Given the description of an element on the screen output the (x, y) to click on. 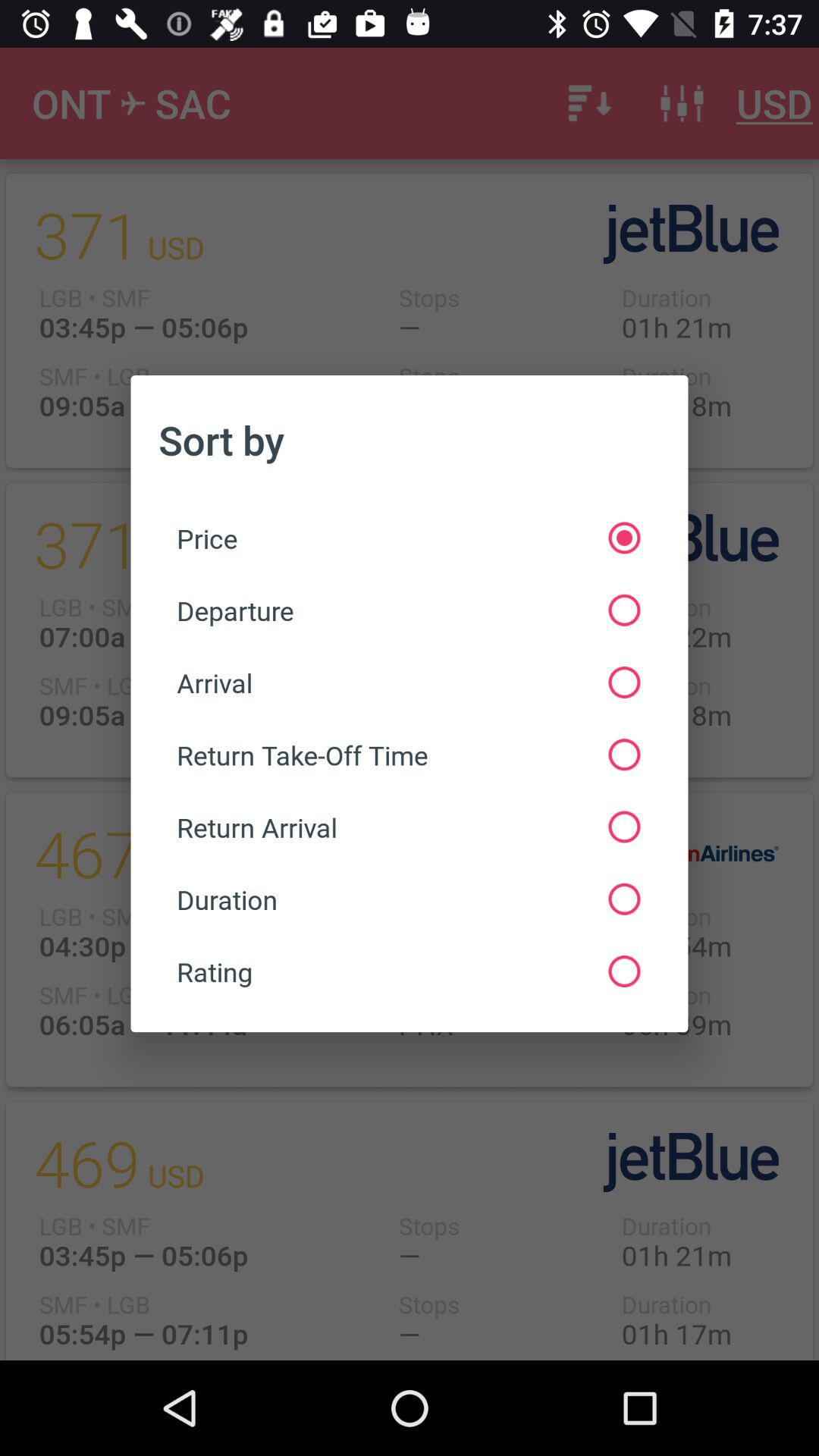
jump to price item (408, 538)
